Given the description of an element on the screen output the (x, y) to click on. 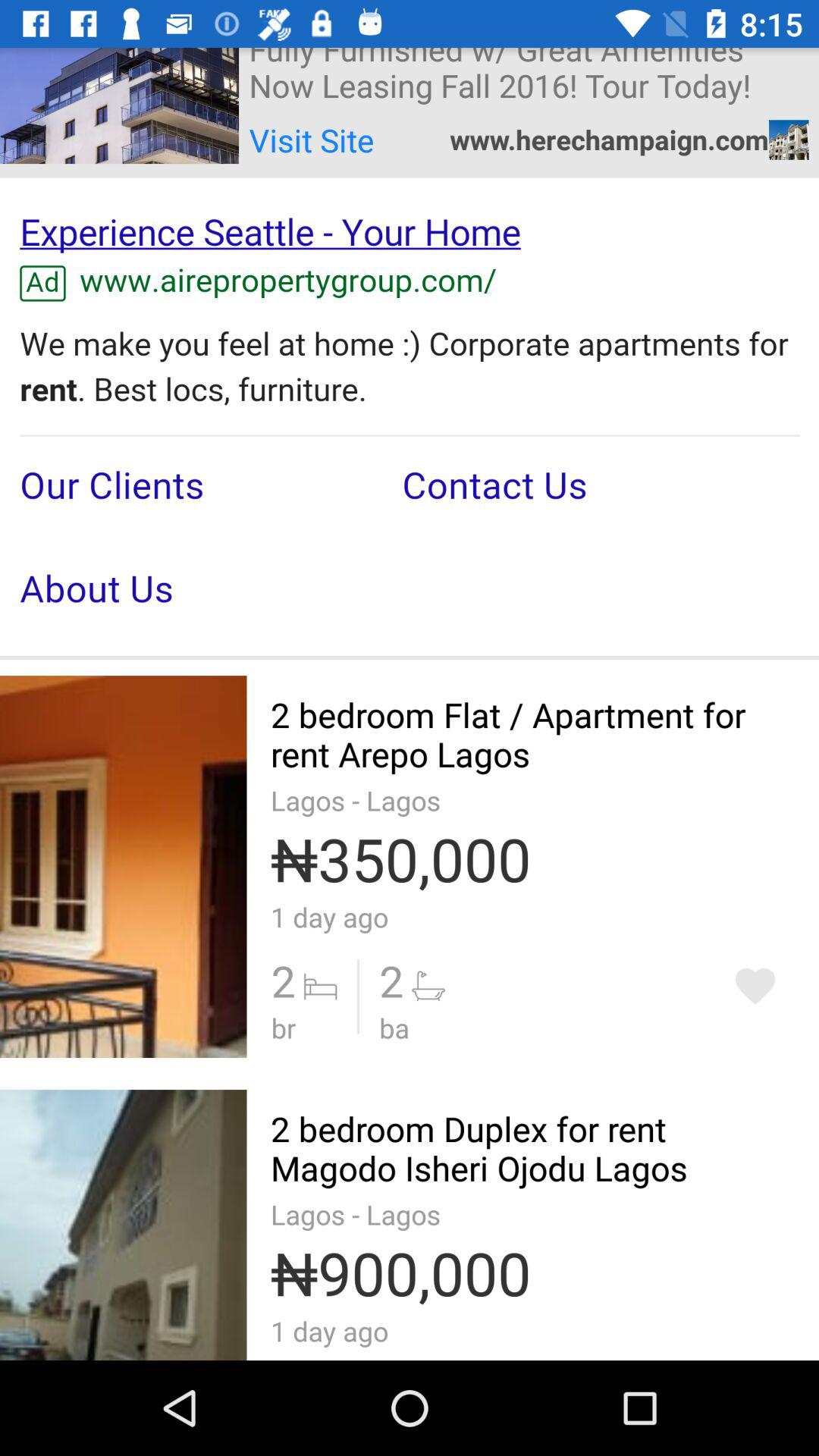
add to favorite (755, 986)
